Given the description of an element on the screen output the (x, y) to click on. 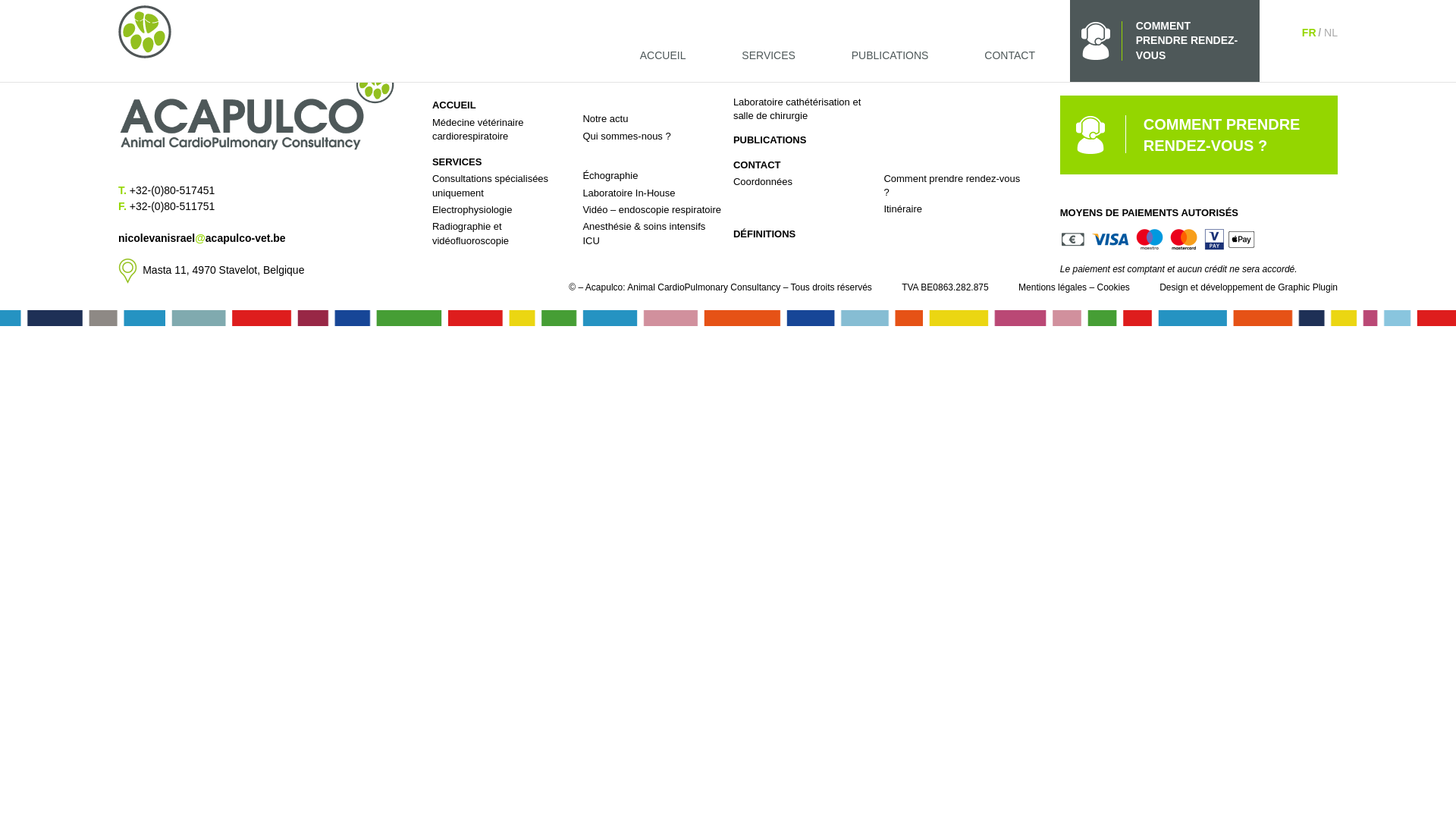
CONTACT Element type: text (757, 164)
PUBLICATIONS Element type: text (769, 139)
Comment prendre rendez-vous ? Element type: text (951, 184)
FR Element type: text (1311, 32)
SERVICES Element type: text (457, 161)
PUBLICATIONS Element type: text (890, 48)
SERVICES Element type: text (768, 48)
NL Element type: text (1330, 32)
nicolevanisrael@acapulco-vet.be Element type: text (256, 237)
Qui sommes-nous ? Element type: text (626, 135)
COMMENT PRENDRE RENDEZ-VOUS ? Element type: text (1198, 134)
Cookies Element type: text (1112, 287)
CONTACT Element type: text (1009, 48)
Laboratoire In-House Element type: text (628, 192)
Notre actu Element type: text (604, 118)
Electrophysiologie Element type: text (472, 209)
Graphic Plugin Element type: text (1307, 287)
Masta 11, 4970 Stavelot, Belgique Element type: text (211, 269)
ACCUEIL Element type: text (454, 104)
COMMENT PRENDRE RENDEZ-VOUS Element type: text (1164, 40)
ACCUEIL Element type: text (662, 48)
